Given the description of an element on the screen output the (x, y) to click on. 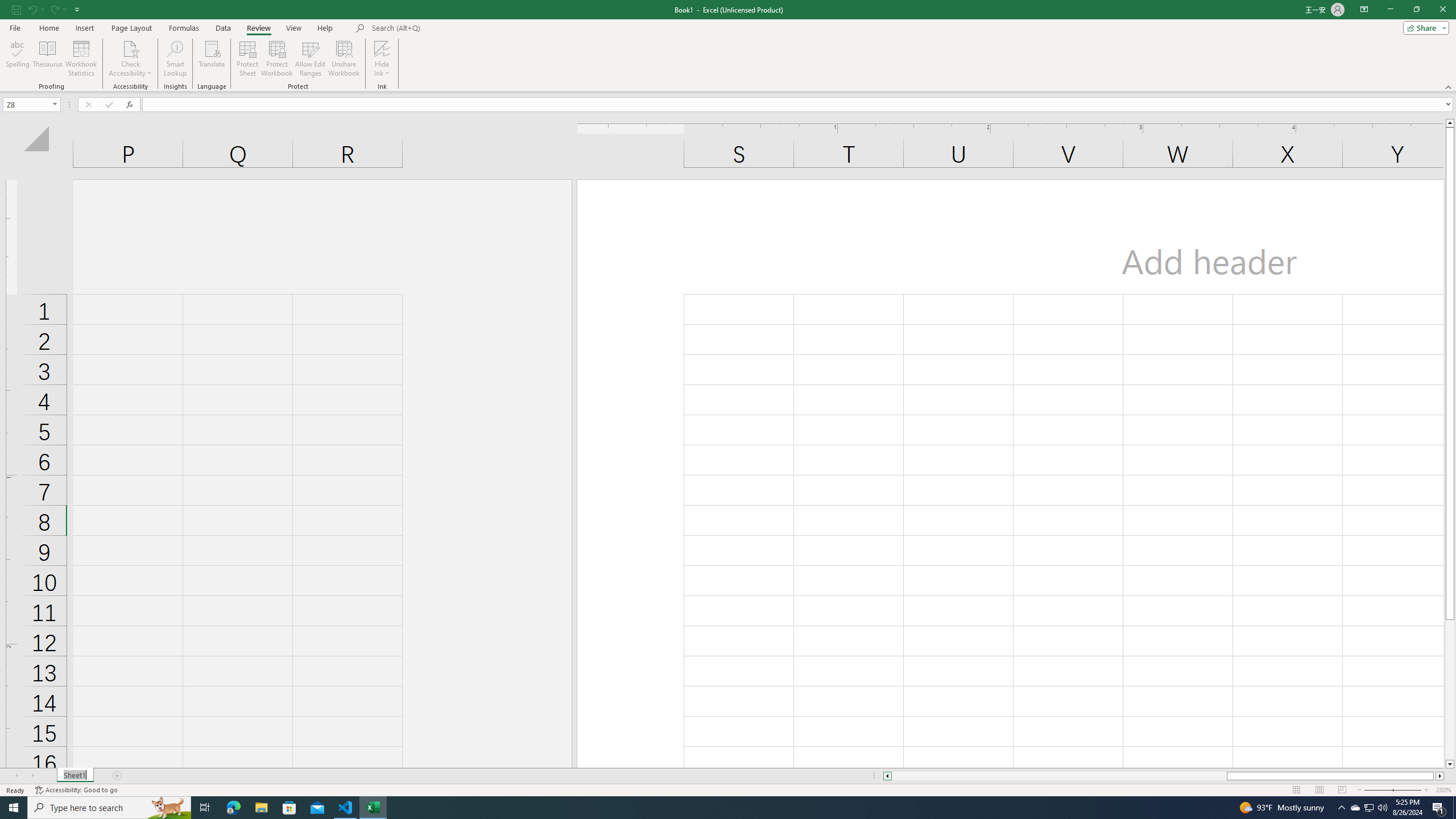
Formula Bar (798, 104)
Thesaurus... (47, 58)
Check Accessibility (129, 48)
